Given the description of an element on the screen output the (x, y) to click on. 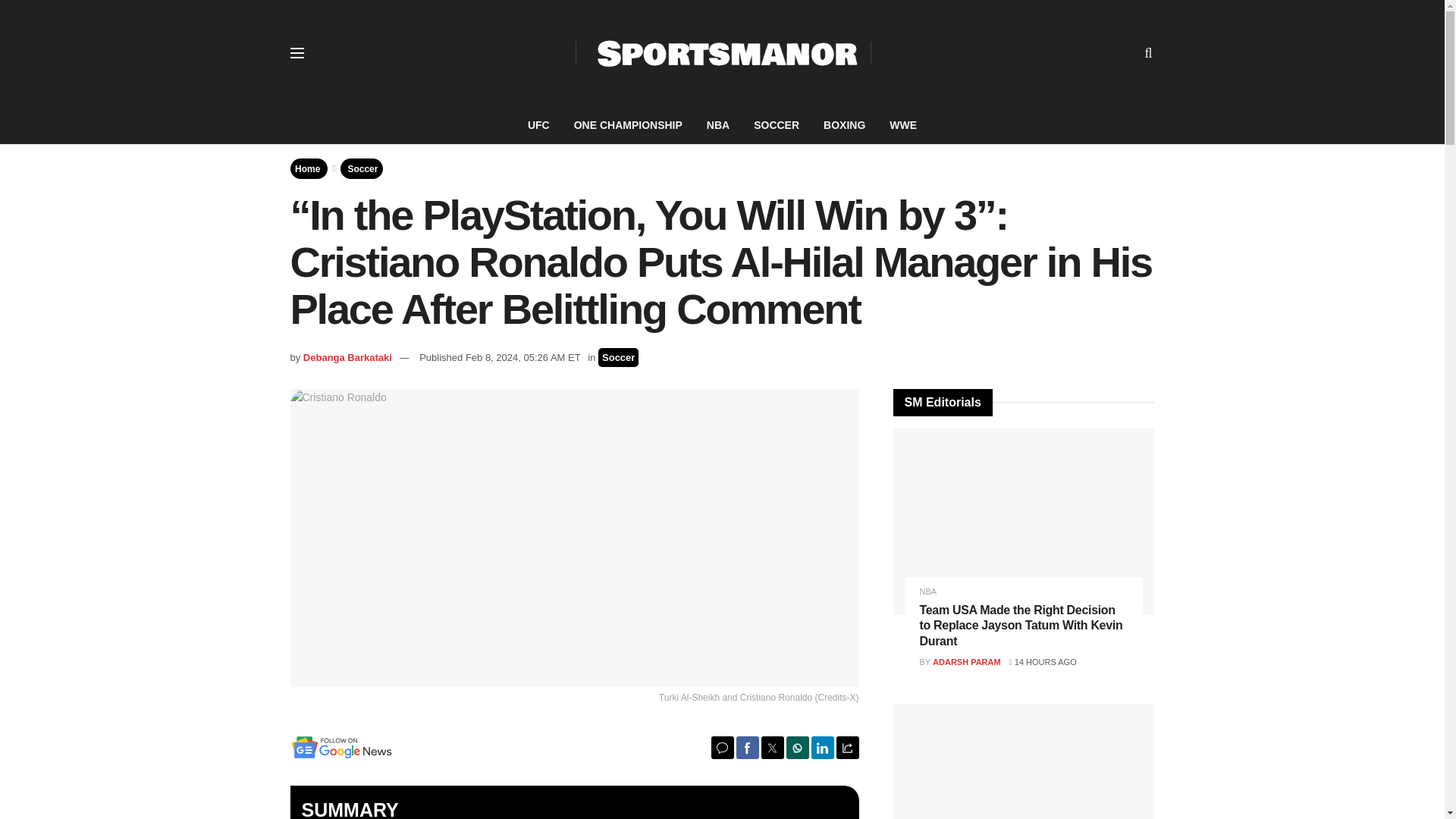
ONE CHAMPIONSHIP (628, 125)
Soccer (362, 167)
NBA (717, 125)
UFC (538, 125)
Published Feb 8, 2024, 05:26 AM ET (499, 357)
Debanga Barkataki (346, 357)
SOCCER (775, 125)
WWE (902, 125)
BOXING (843, 125)
Soccer (618, 357)
Home (307, 167)
